Given the description of an element on the screen output the (x, y) to click on. 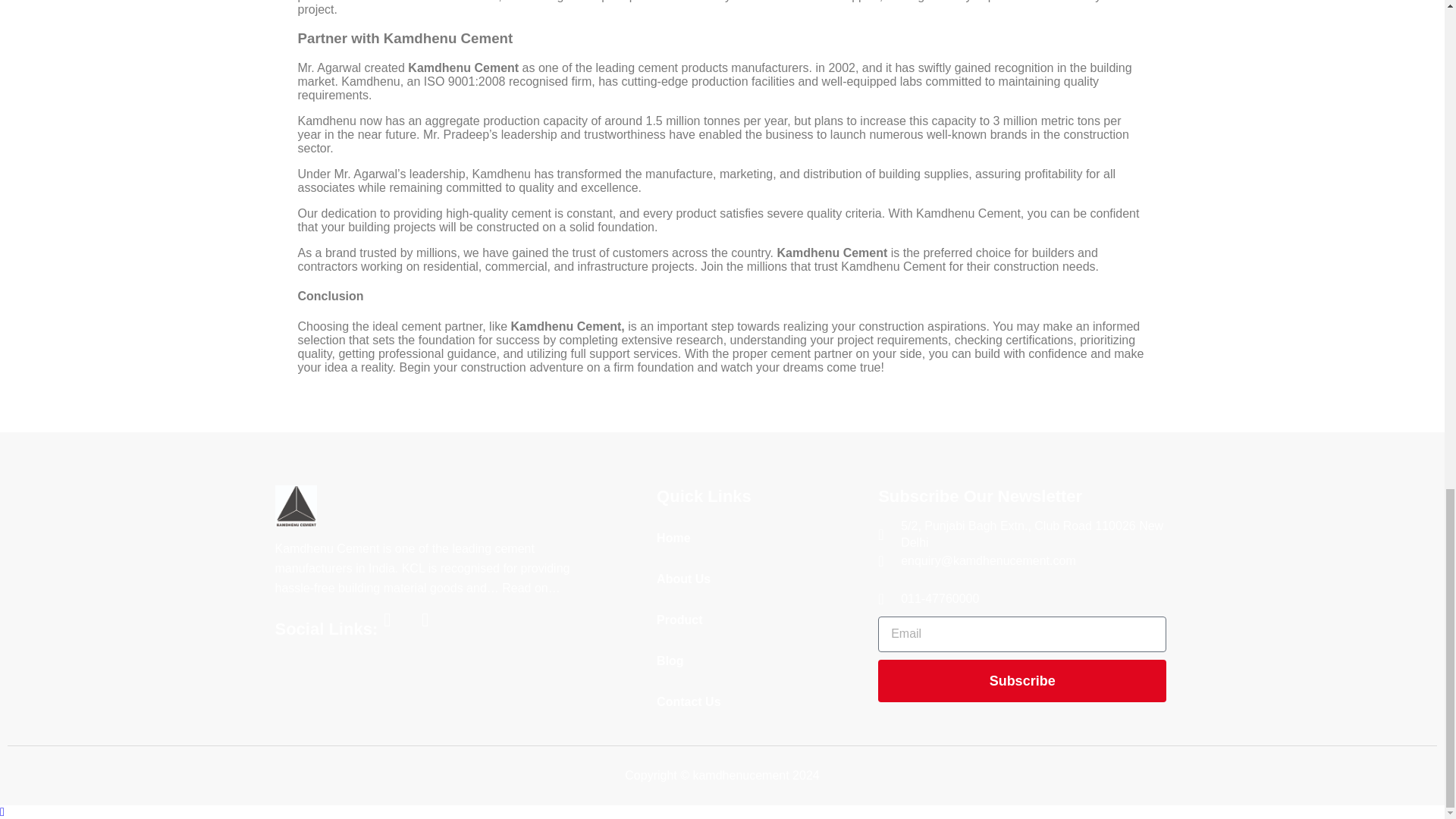
Home (759, 537)
Blog (759, 660)
011-47760000 (1021, 598)
Product (759, 619)
Subscribe (1021, 680)
About Us (759, 578)
Contact Us (759, 701)
